Given the description of an element on the screen output the (x, y) to click on. 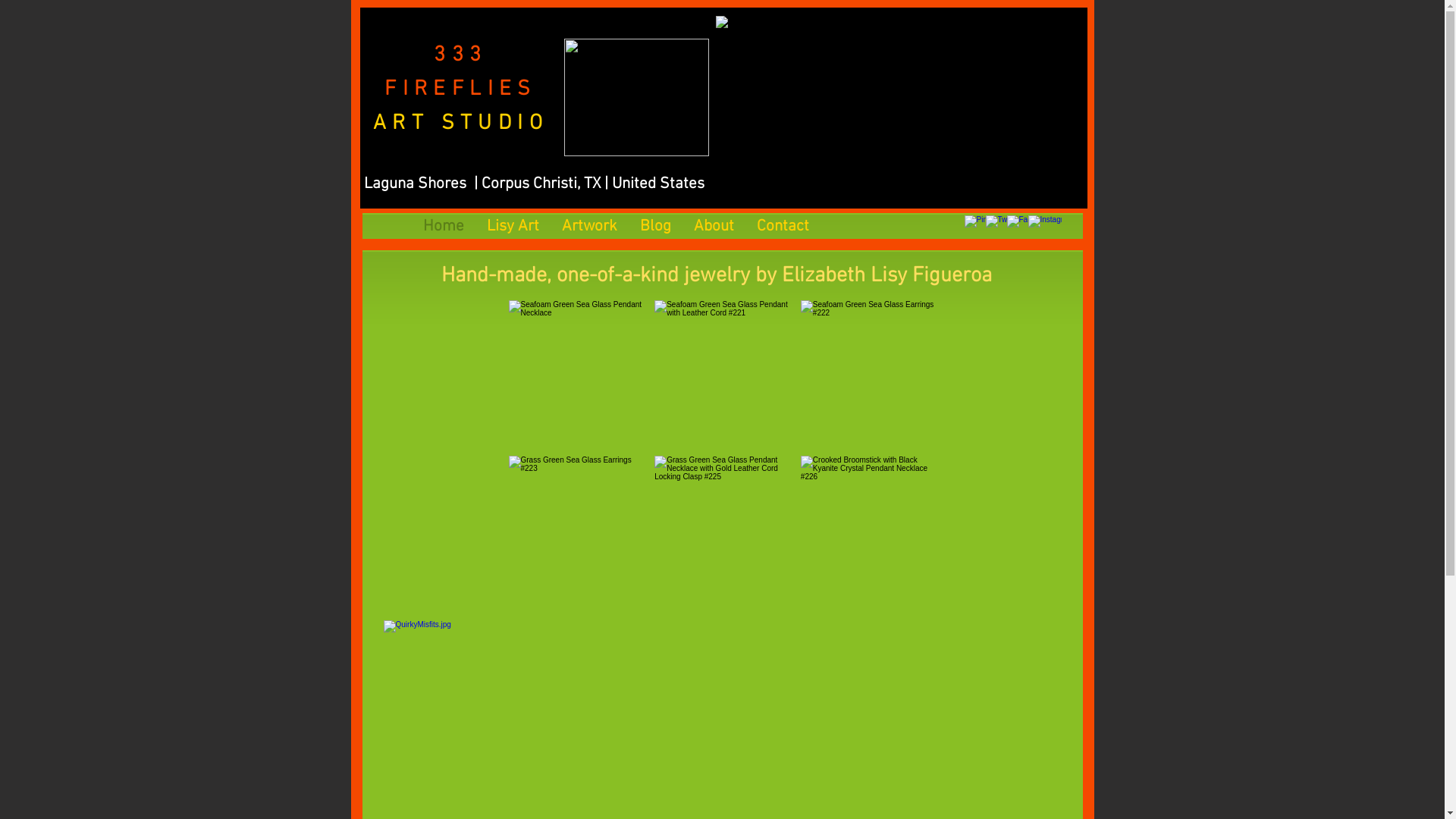
Blog Element type: text (654, 222)
Home Element type: text (442, 222)
ART STUDIO Element type: text (460, 123)
About Element type: text (713, 222)
Lisy Art Element type: text (511, 222)
Contact Us! Element type: text (548, 356)
Contact Element type: text (781, 222)
Artwork Element type: text (589, 222)
333FireFliesSymbol.jpg Element type: hover (636, 97)
